Given the description of an element on the screen output the (x, y) to click on. 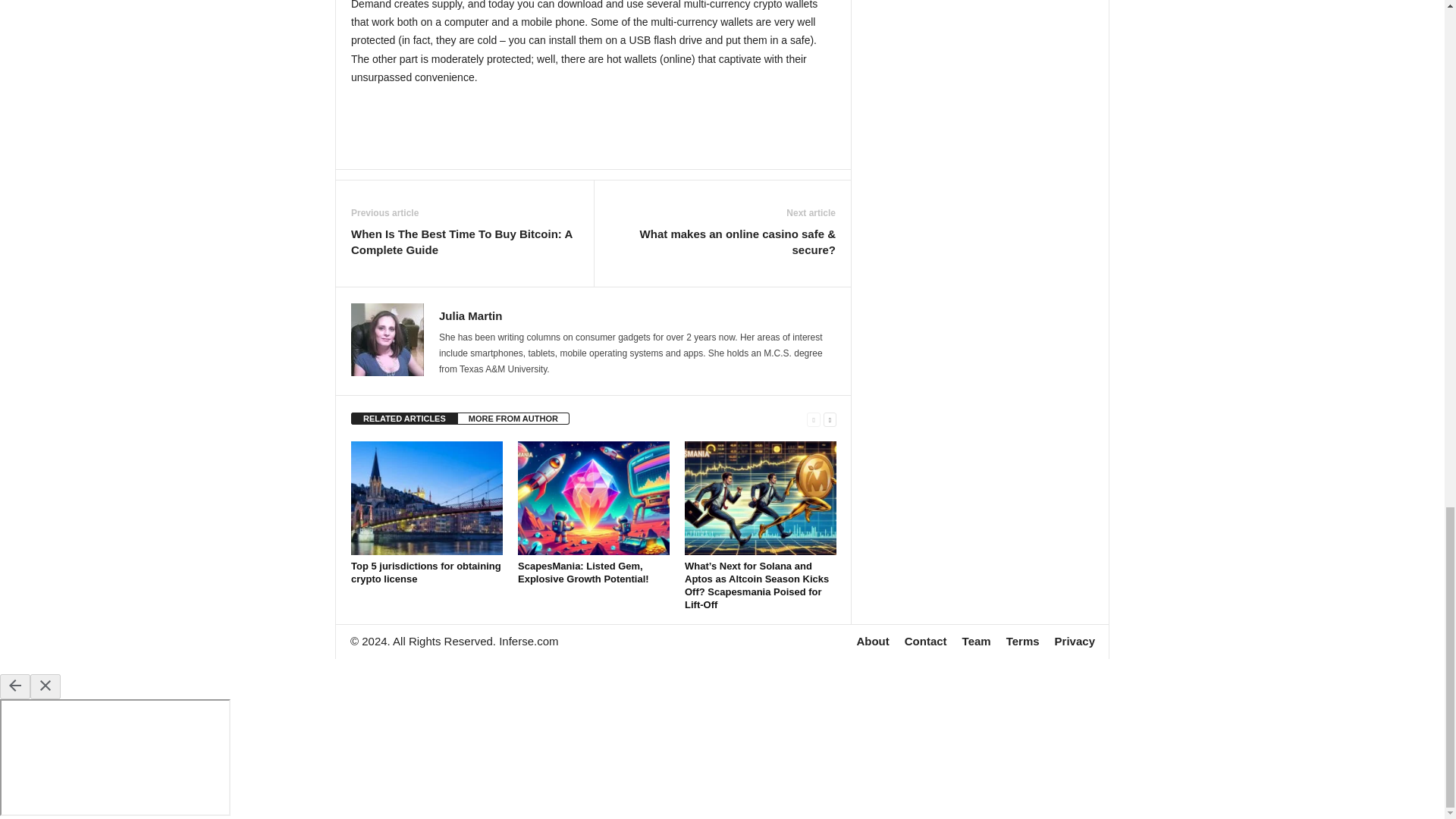
MORE FROM AUTHOR (513, 418)
Advertisement (593, 126)
When Is The Best Time To Buy Bitcoin: A Complete Guide (464, 241)
ScapesMania: Listed Gem, Explosive Growth Potential! (583, 572)
Top 5 jurisdictions for obtaining crypto license (425, 572)
Julia Martin (470, 315)
ScapesMania: Listed Gem, Explosive Growth Potential! (583, 572)
Top 5 jurisdictions for obtaining crypto license (426, 498)
Top 5 jurisdictions for obtaining crypto license (425, 572)
ScapesMania: Listed Gem, Explosive Growth Potential! (593, 498)
RELATED ARTICLES (404, 418)
